Given the description of an element on the screen output the (x, y) to click on. 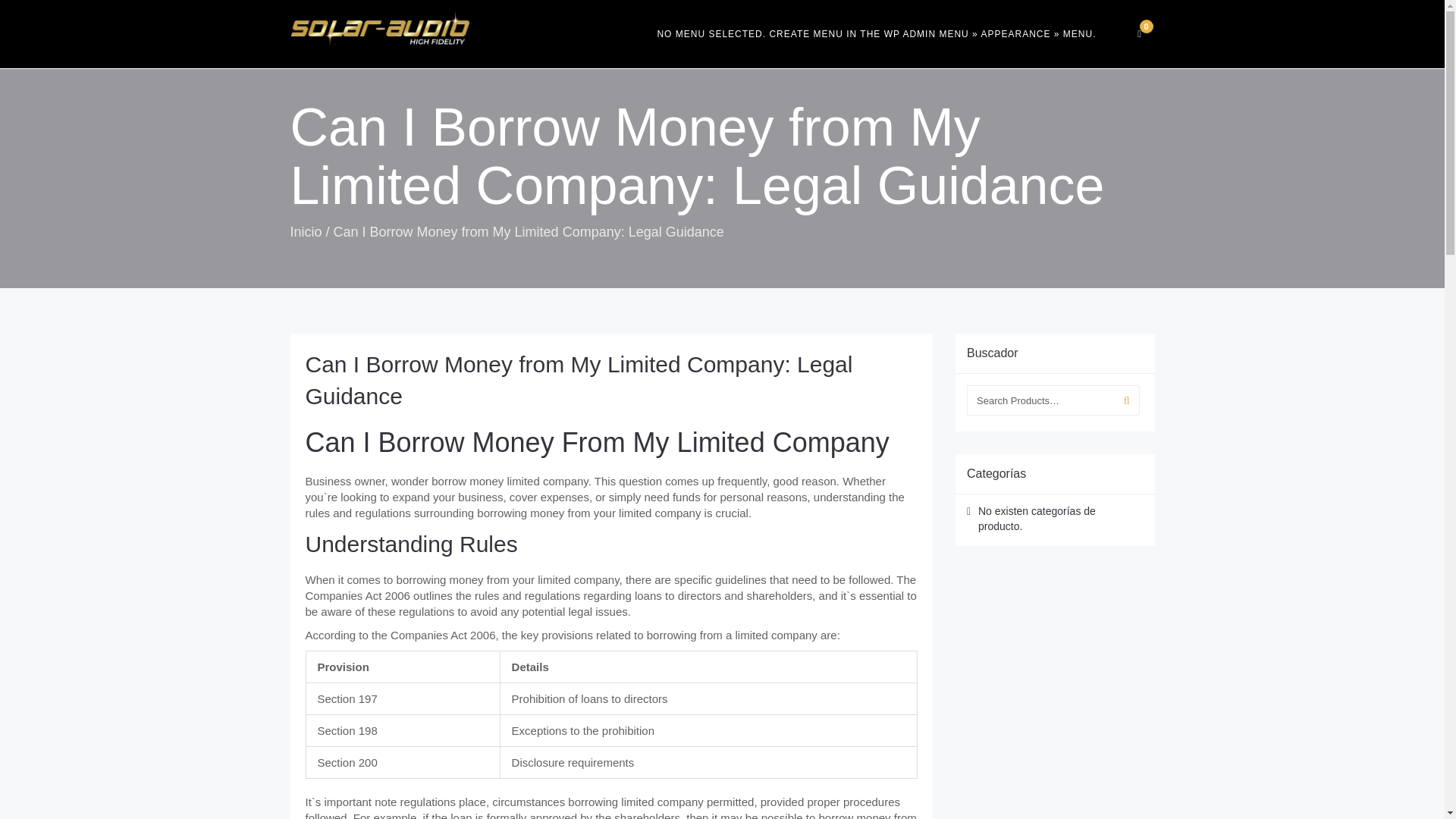
Inicio (305, 231)
Search for: (1040, 399)
Can I Borrow Money from My Limited Company: Legal Guidance (577, 380)
